Given the description of an element on the screen output the (x, y) to click on. 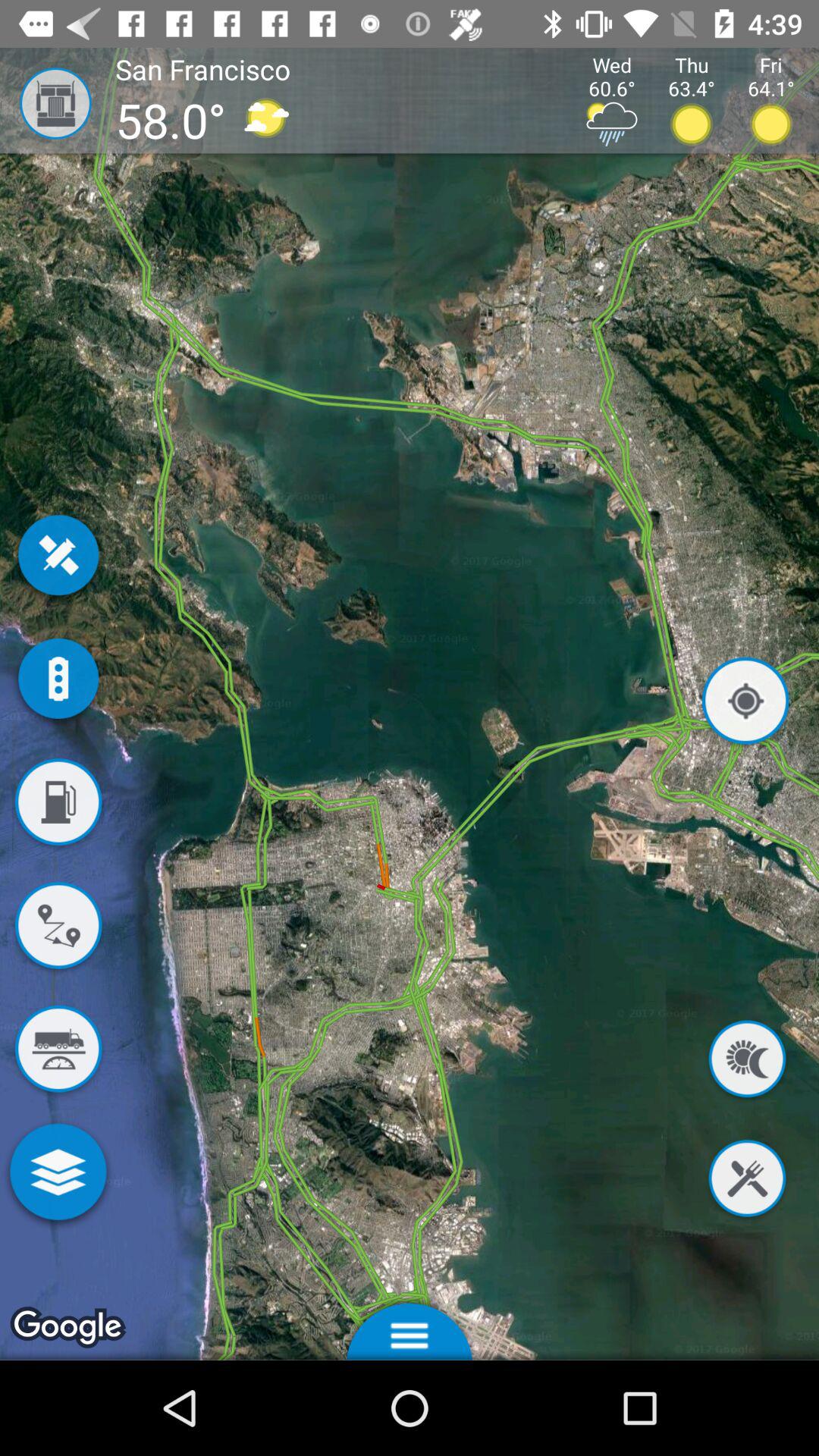
toggle day/night mode (747, 1061)
